Given the description of an element on the screen output the (x, y) to click on. 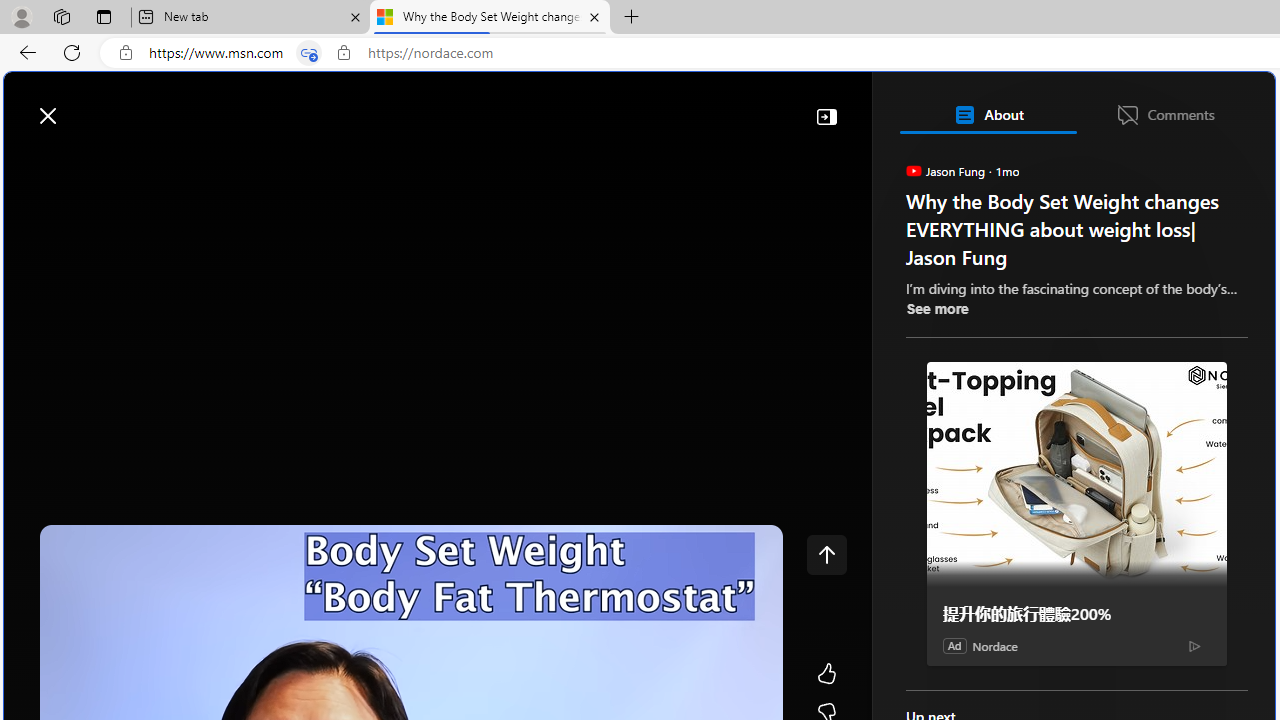
Ad (954, 645)
The Associated Press (974, 645)
Microsoft Start (94, 105)
View site information (343, 53)
Skip to footer (82, 105)
Open Copilot (995, 105)
Jason Fung (912, 170)
Open navigation menu (29, 162)
